Given the description of an element on the screen output the (x, y) to click on. 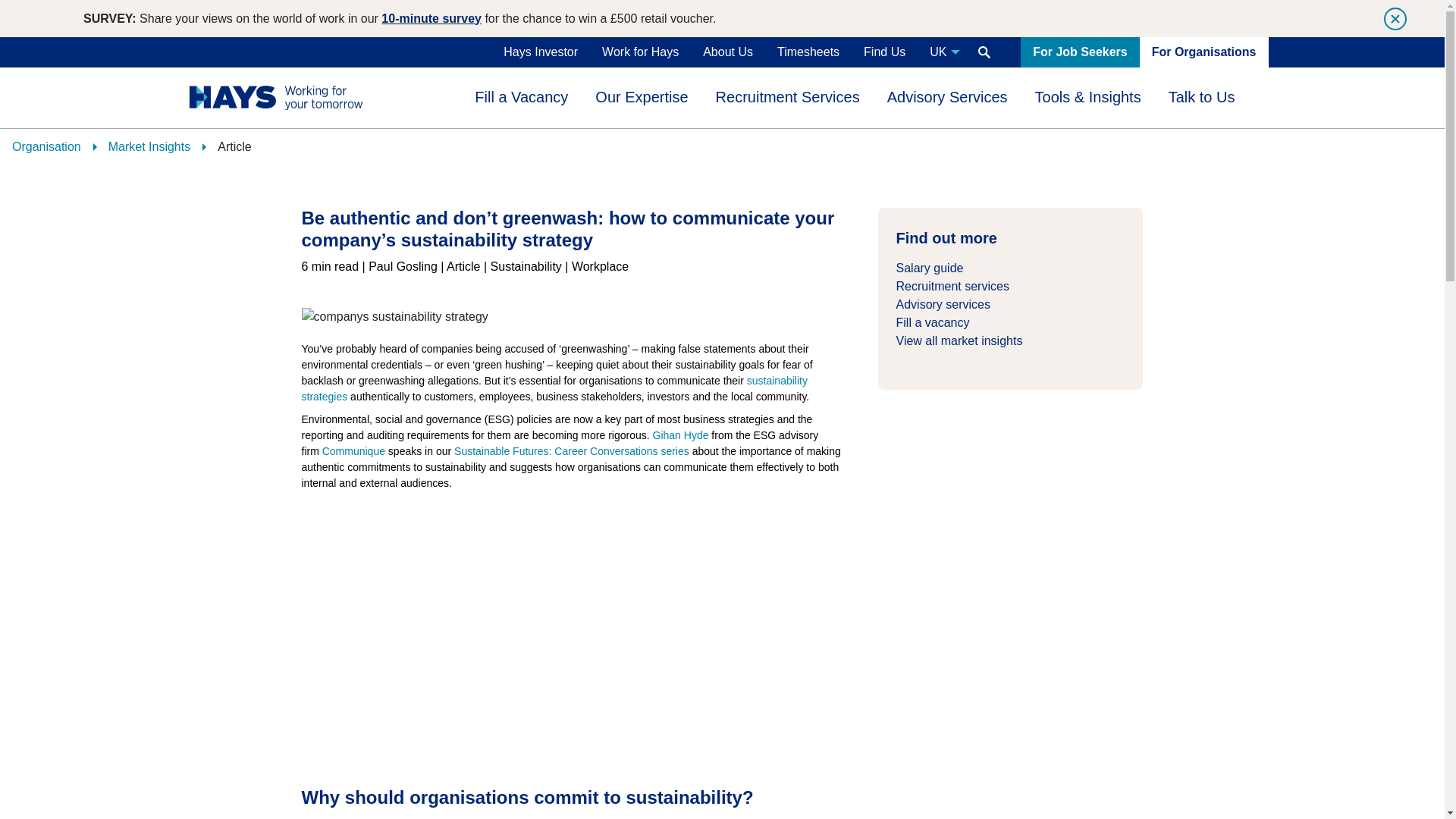
Find Us (884, 51)
Work for Hays (639, 51)
YouTube video player (513, 634)
10-minute survey (431, 18)
Hays Investor (540, 51)
UK (941, 51)
Timesheets (808, 51)
About Us (727, 51)
